Given the description of an element on the screen output the (x, y) to click on. 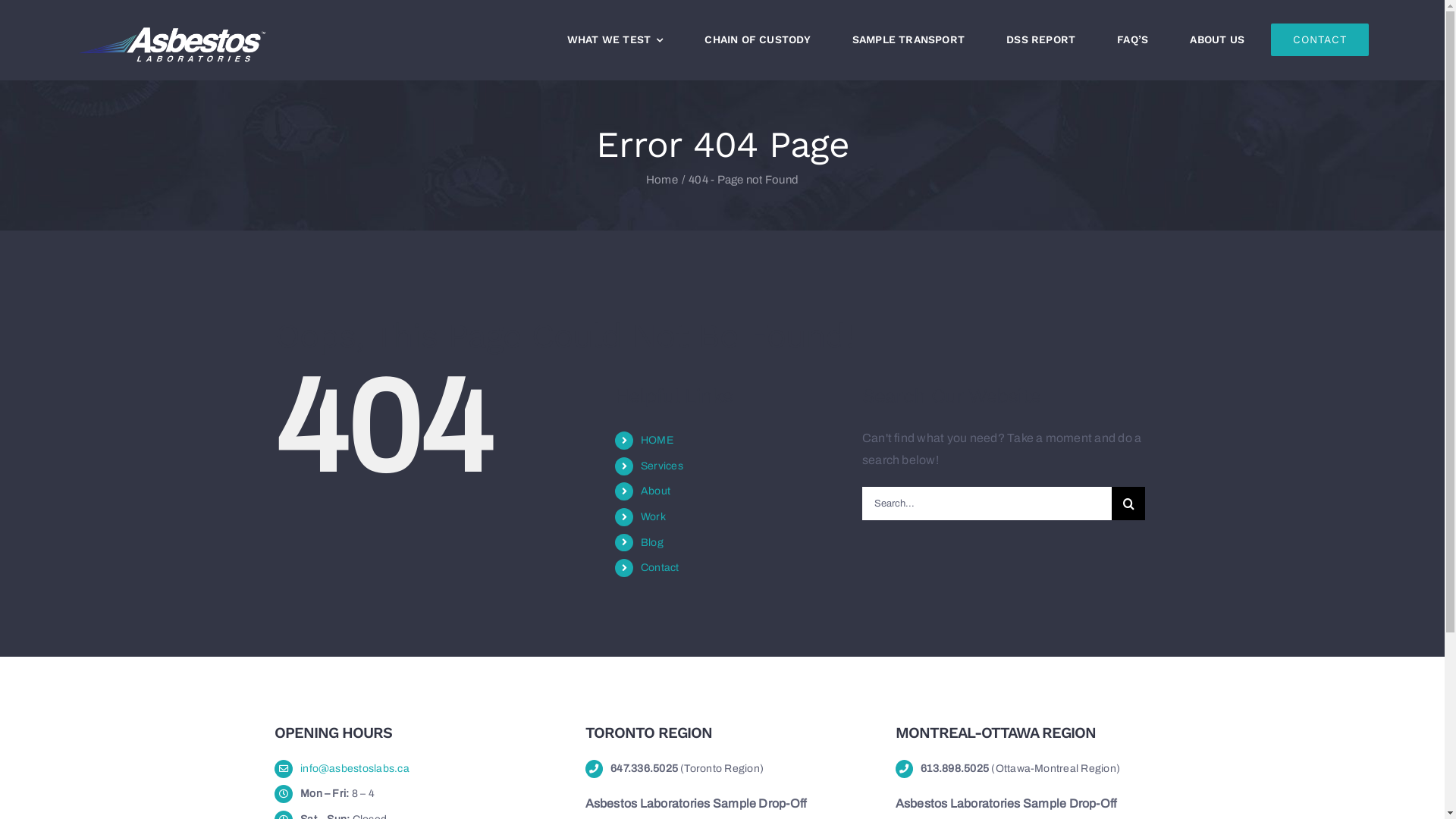
ABOUT US Element type: text (1216, 39)
info@asbestoslabs.ca Element type: text (354, 768)
Blog Element type: text (651, 542)
Home Element type: text (661, 179)
CONTACT Element type: text (1319, 39)
Work Element type: text (652, 516)
About Element type: text (655, 490)
CHAIN OF CUSTODY Element type: text (757, 39)
HOME Element type: text (656, 439)
Contact Element type: text (659, 567)
Services Element type: text (661, 465)
SAMPLE TRANSPORT Element type: text (908, 39)
WHAT WE TEST Element type: text (615, 39)
DSS REPORT Element type: text (1040, 39)
